Given the description of an element on the screen output the (x, y) to click on. 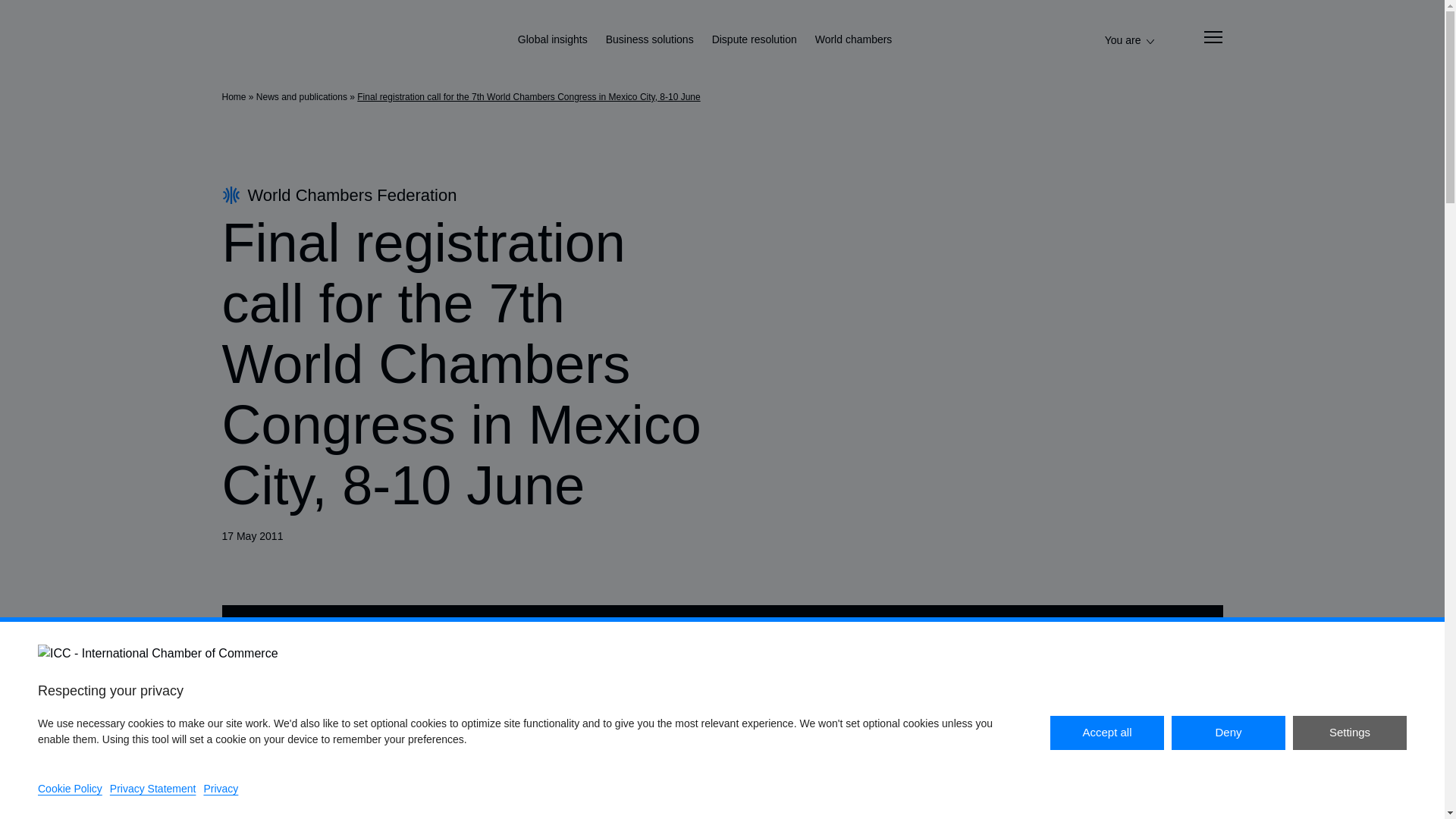
Privacy Statement (153, 788)
ICC - International Chamber of Commerce (262, 41)
Deny (1228, 732)
Cookie Policy (69, 788)
Privacy (220, 788)
Settings (1349, 732)
Accept all (1106, 732)
